Given the description of an element on the screen output the (x, y) to click on. 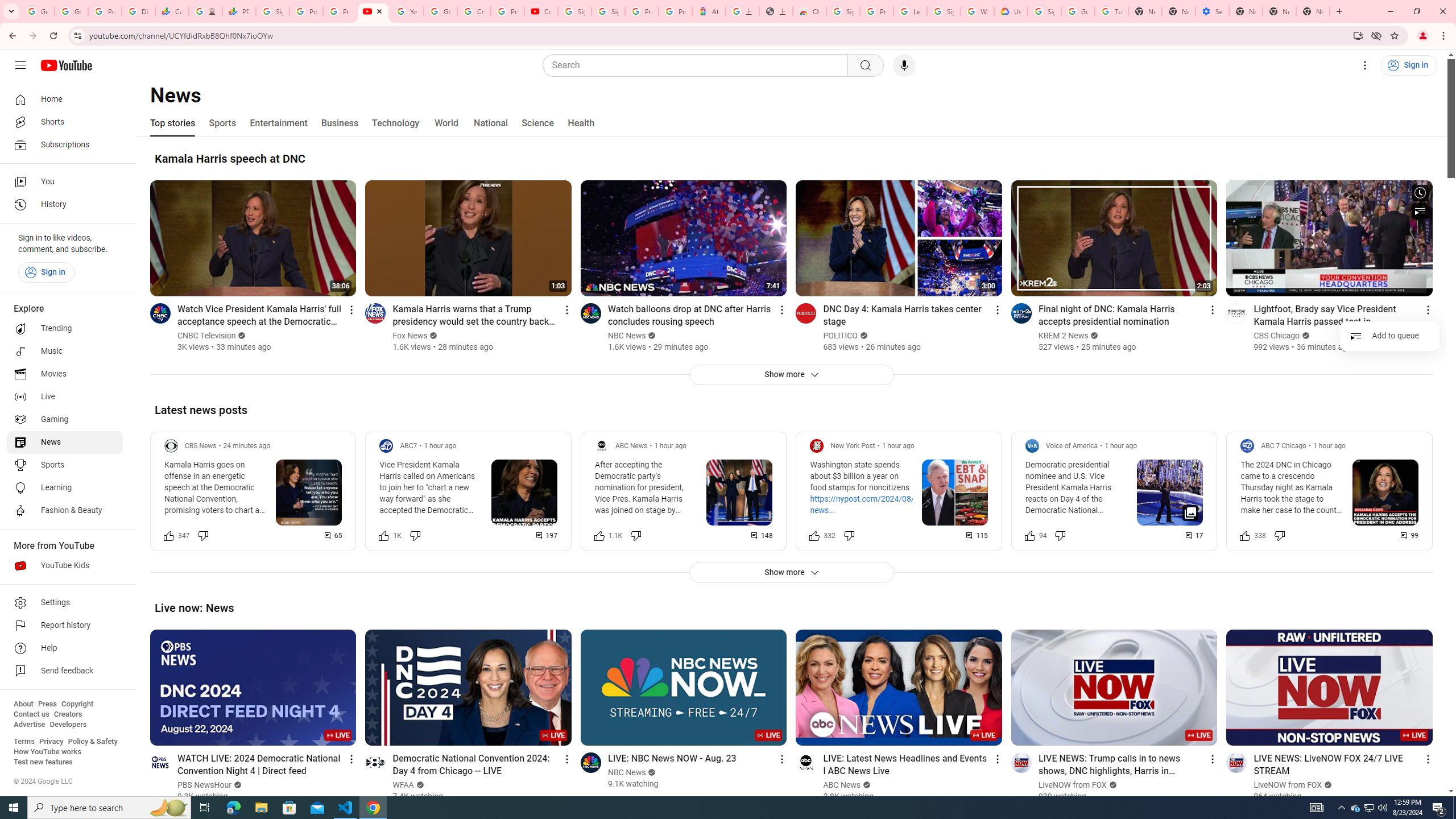
Verified (1327, 784)
